Given the description of an element on the screen output the (x, y) to click on. 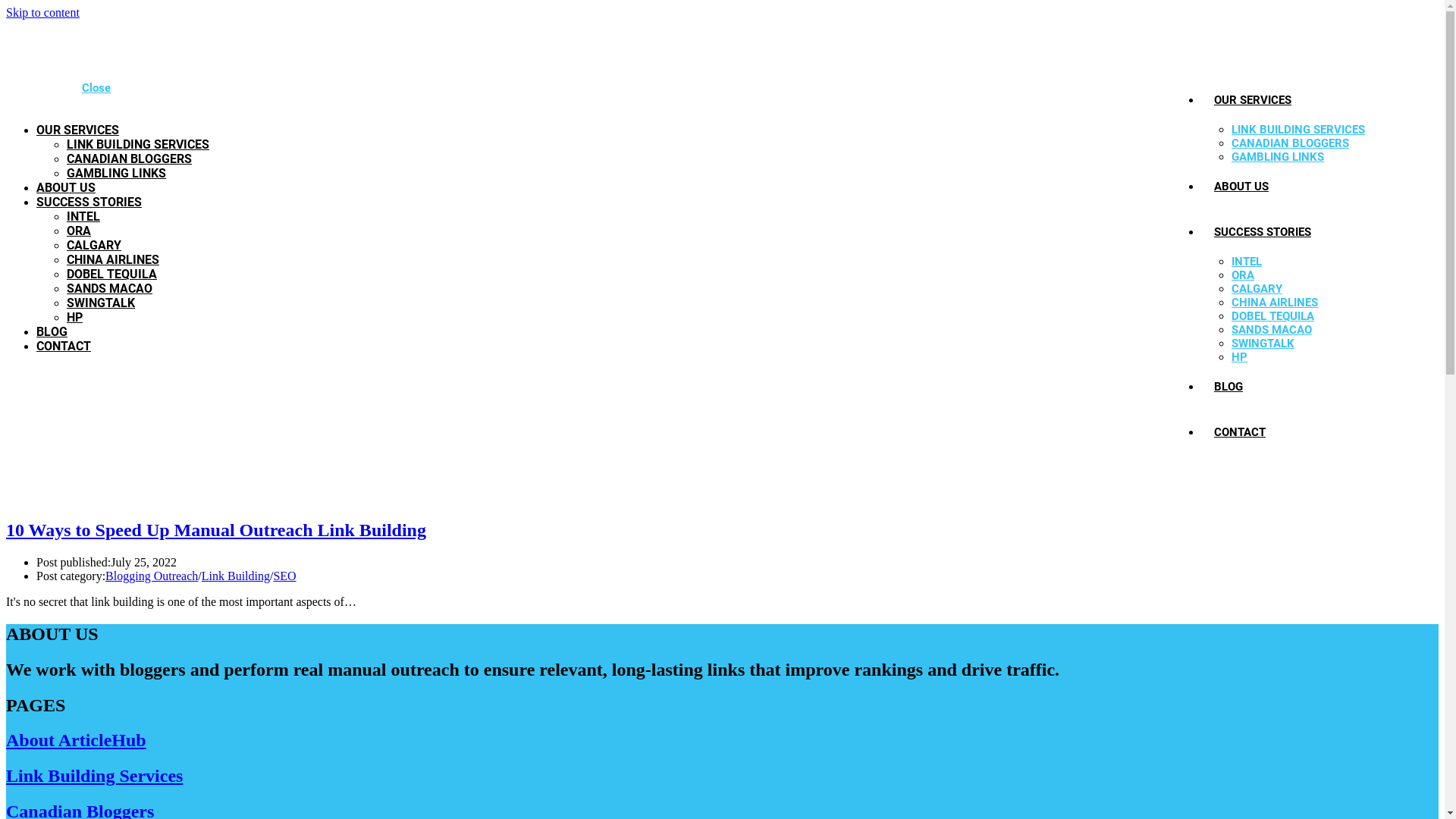
About ArticleHub Element type: text (76, 739)
CALGARY Element type: text (1256, 288)
LINK BUILDING SERVICES Element type: text (137, 144)
BLOG Element type: text (51, 331)
SUCCESS STORIES Element type: text (1262, 231)
CANADIAN BLOGGERS Element type: text (128, 158)
ABOUT US Element type: text (65, 187)
DOBEL TEQUILA Element type: text (1272, 316)
10 Ways to Speed Up Manual Outreach Link Building Element type: text (216, 529)
ABOUT US Element type: text (1241, 186)
HP Element type: text (1239, 357)
HP Element type: text (74, 317)
ORA Element type: text (1242, 275)
GAMBLING LINKS Element type: text (1277, 156)
SWINGTALK Element type: text (100, 302)
SWINGTALK Element type: text (1262, 343)
CHINA AIRLINES Element type: text (1274, 302)
INTEL Element type: text (83, 216)
INTEL Element type: text (1246, 261)
SUCCESS STORIES Element type: text (88, 201)
SEO Element type: text (284, 575)
DOBEL TEQUILA Element type: text (111, 273)
Skip to content Element type: text (42, 12)
OUR SERVICES Element type: text (77, 129)
ORA Element type: text (78, 230)
GAMBLING LINKS Element type: text (116, 173)
SANDS MACAO Element type: text (1271, 329)
SANDS MACAO Element type: text (109, 288)
CALGARY Element type: text (93, 245)
Blogging Outreach Element type: text (151, 575)
Close Element type: text (95, 87)
Link Building Element type: text (235, 575)
CANADIAN BLOGGERS Element type: text (1290, 143)
CONTACT Element type: text (1239, 432)
CONTACT Element type: text (63, 345)
Link Building Services Element type: text (94, 775)
OUR SERVICES Element type: text (1252, 99)
CHINA AIRLINES Element type: text (112, 259)
LINK BUILDING SERVICES Element type: text (1298, 129)
BLOG Element type: text (1228, 386)
